Given the description of an element on the screen output the (x, y) to click on. 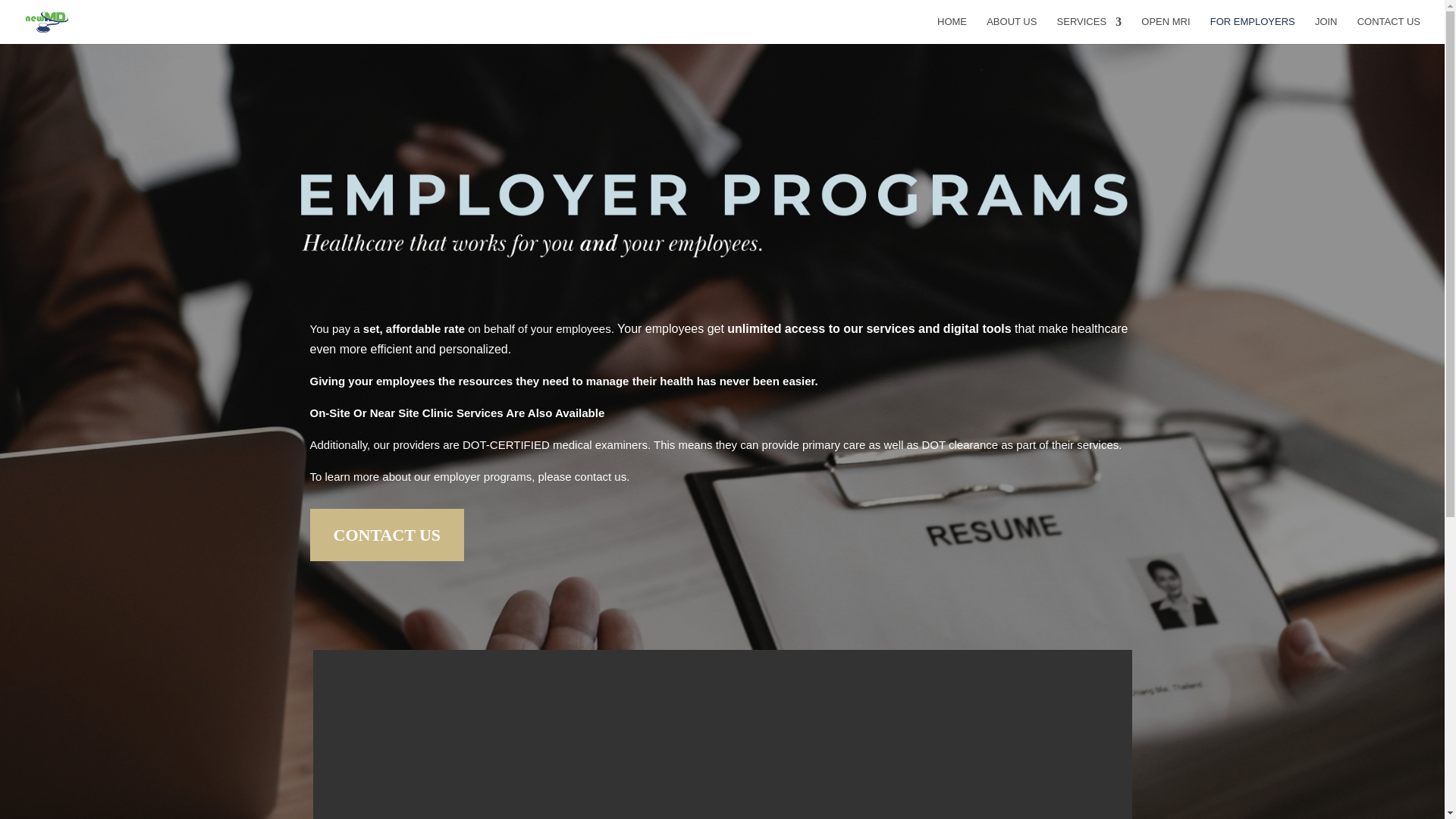
ABOUT US (1011, 30)
CONTACT US (1388, 30)
HOME (951, 30)
CONTACT US (386, 534)
SERVICES (1089, 30)
OPEN MRI (1165, 30)
FOR EMPLOYERS (1252, 30)
